Given the description of an element on the screen output the (x, y) to click on. 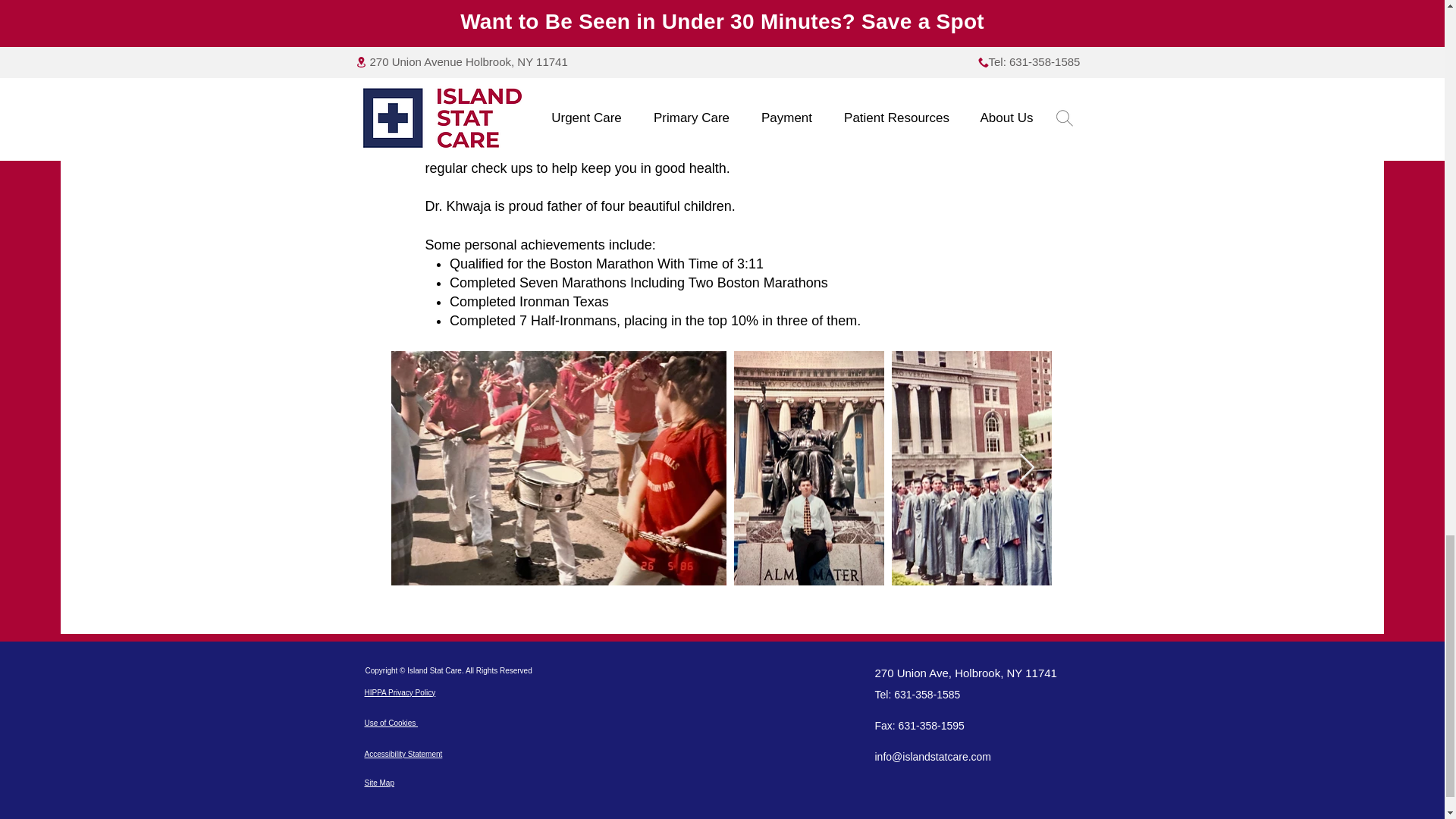
Use of Cookies  (390, 723)
Accessibility Statement (403, 754)
Site Map (378, 782)
HIPPA Privacy Policy (399, 692)
